Given the description of an element on the screen output the (x, y) to click on. 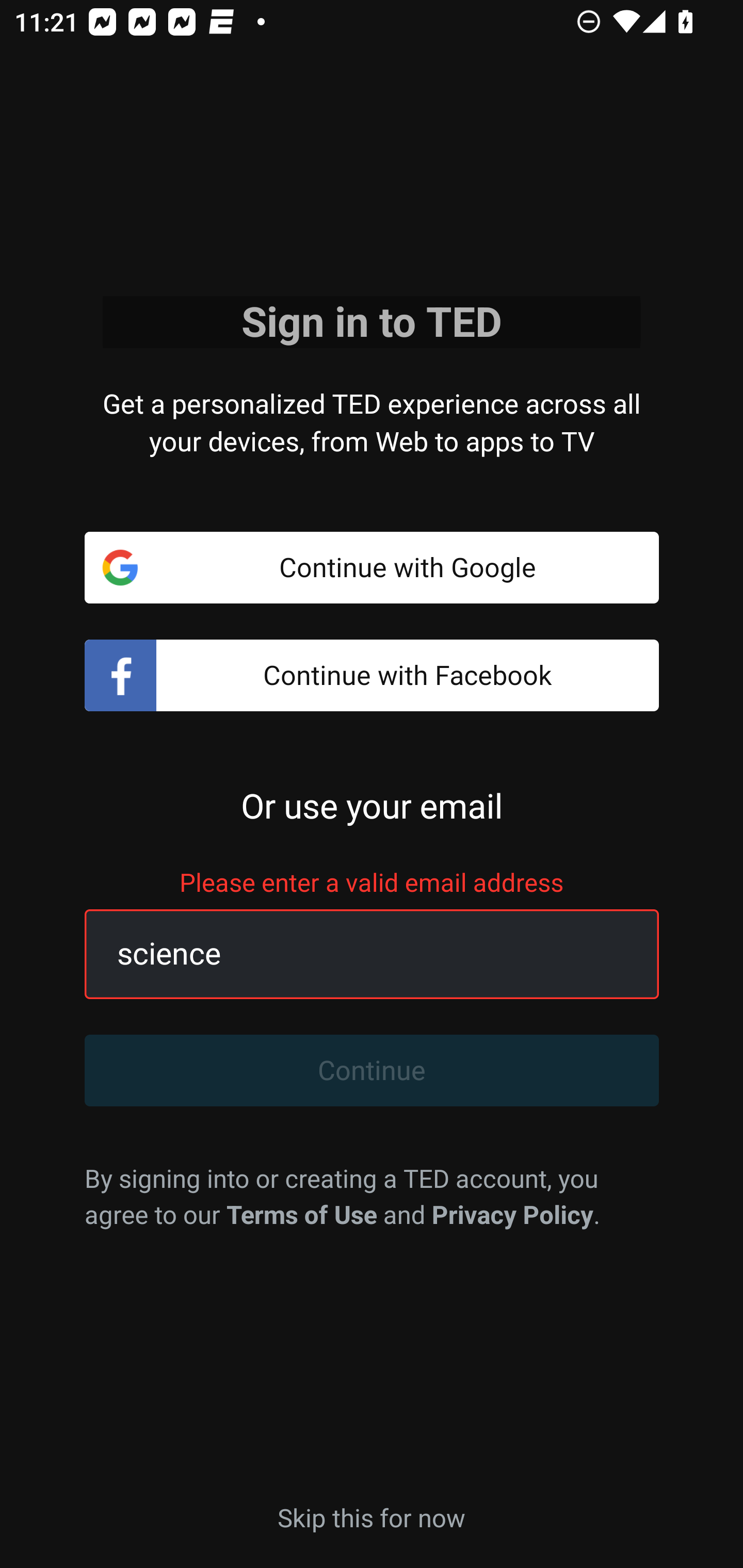
Continue with Google (371, 567)
Continue with Facebook (371, 675)
science (349, 953)
Continue (371, 1070)
Skip this for now (371, 1516)
